Given the description of an element on the screen output the (x, y) to click on. 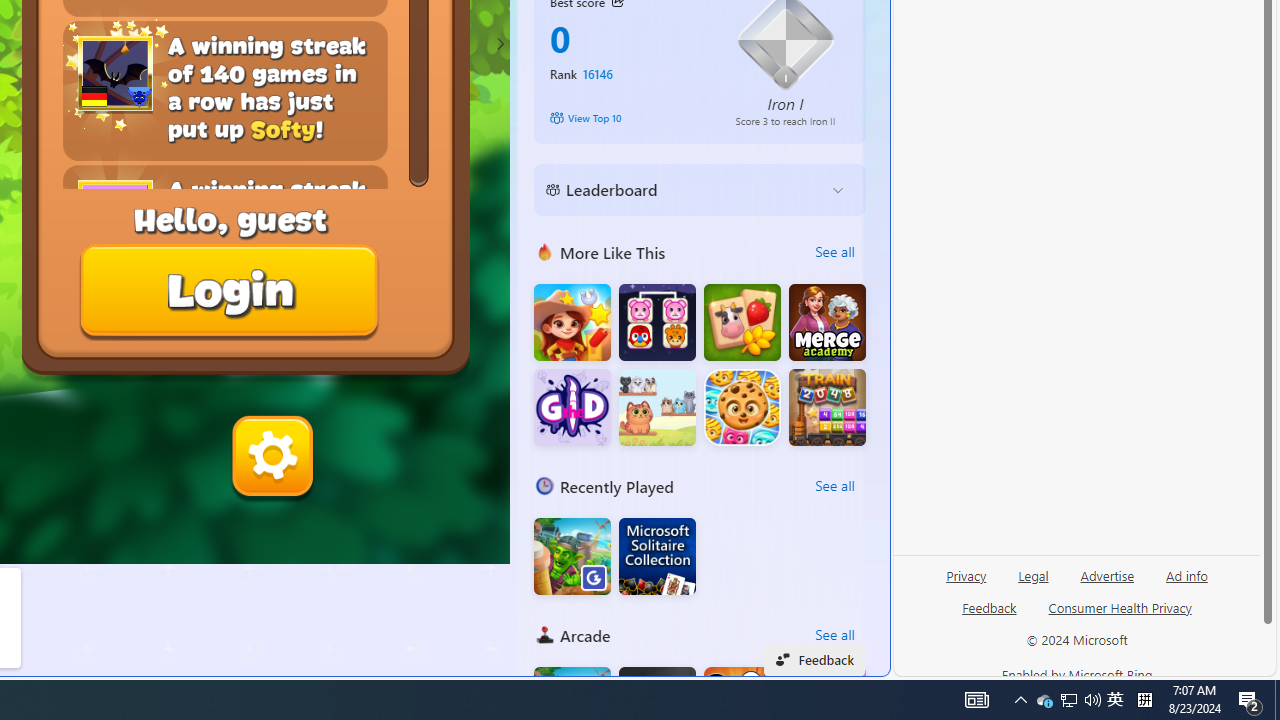
Consumer Health Privacy (1119, 607)
Cookie Connect (742, 407)
Leaderboard (683, 189)
Microsoft Solitaire Collection (657, 556)
Solitaire Mahjong Farm (742, 322)
Cat Sort Puzzle (657, 407)
Class: control (499, 43)
Ad info (1186, 583)
Train 2048 (827, 407)
Arcade (544, 634)
More Like This (544, 251)
